Given the description of an element on the screen output the (x, y) to click on. 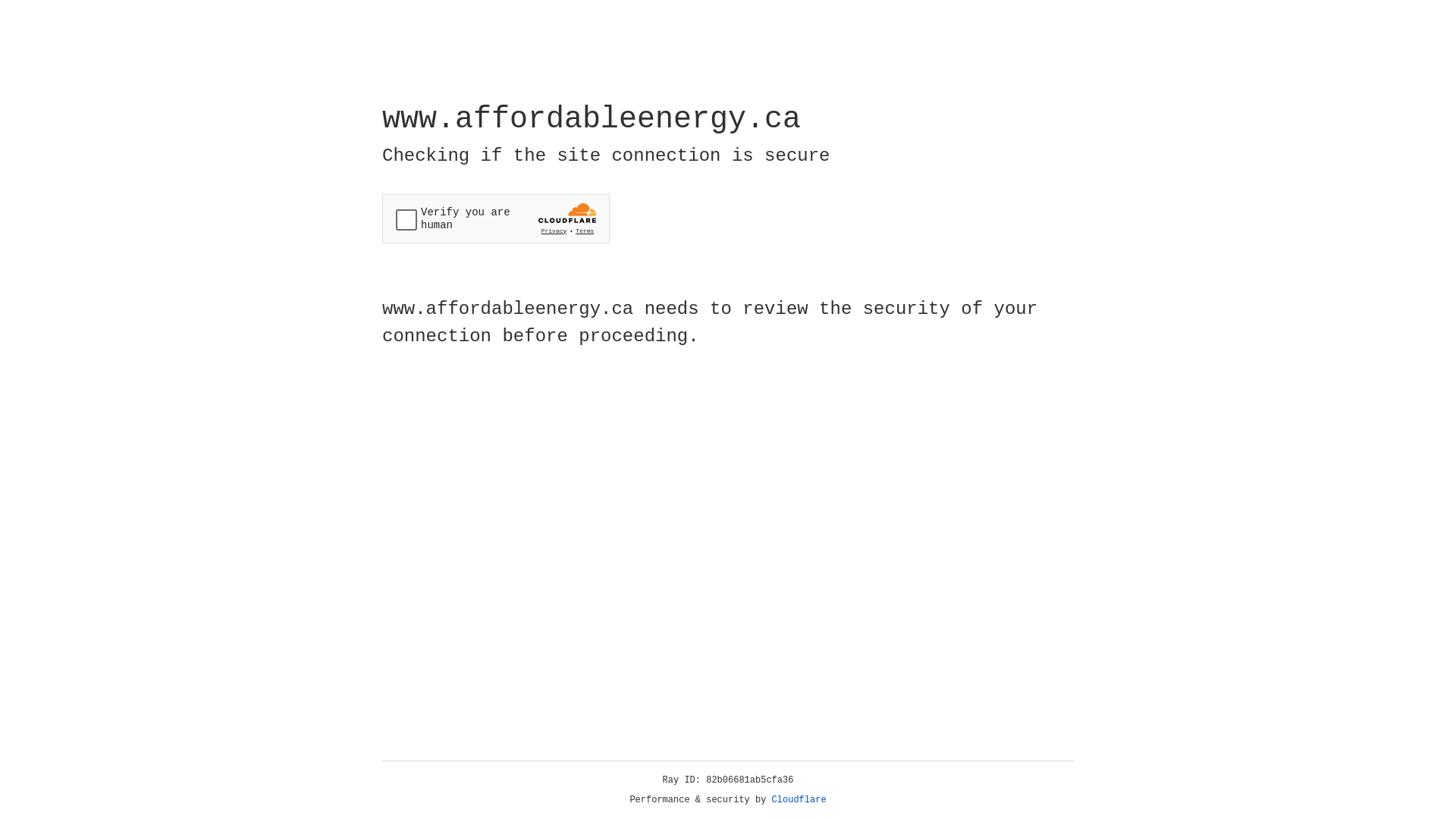
Cloudflare Element type: text (798, 799)
Widget containing a Cloudflare security challenge Element type: hover (495, 218)
